Given the description of an element on the screen output the (x, y) to click on. 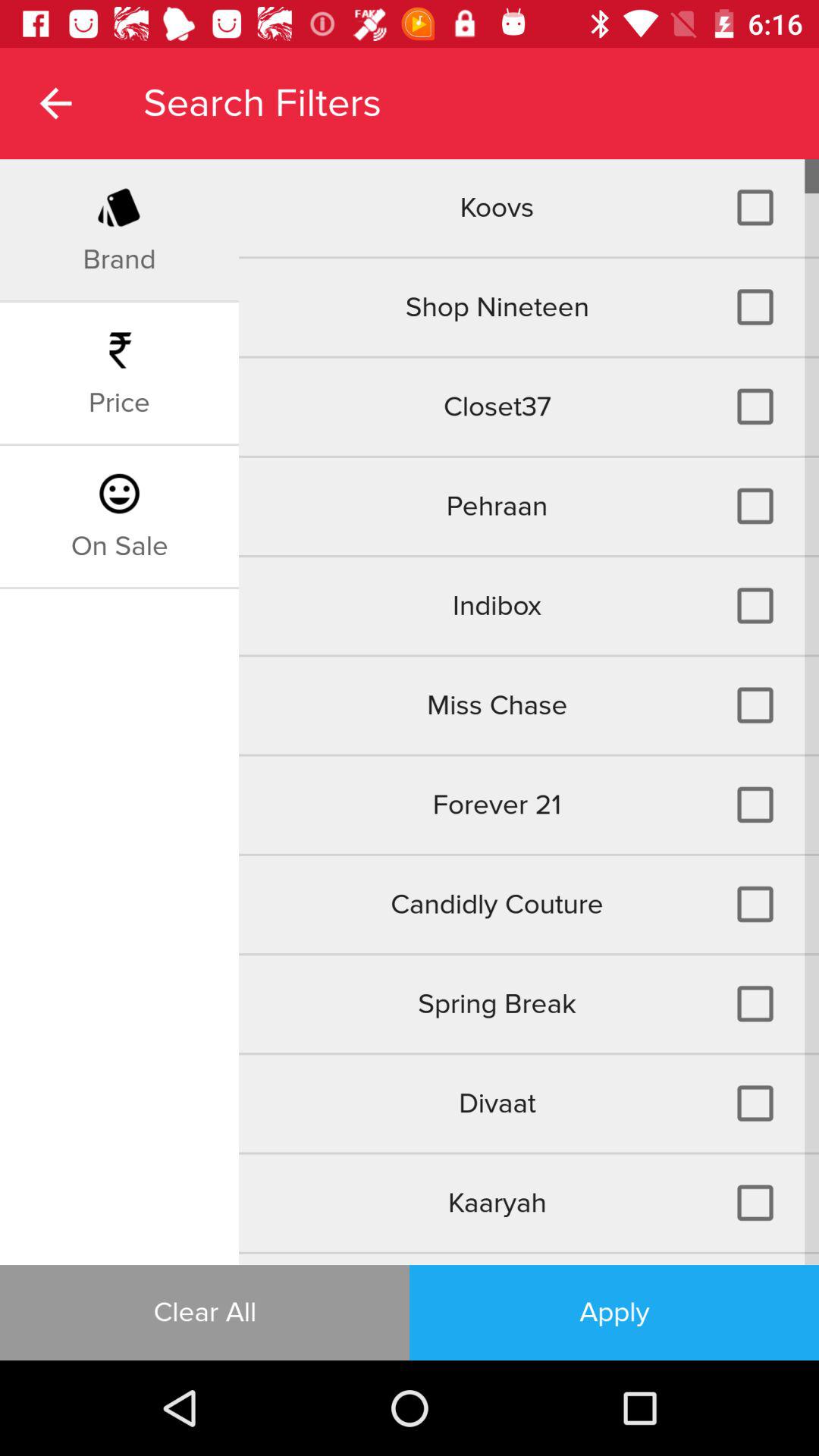
scroll until the price item (119, 402)
